Given the description of an element on the screen output the (x, y) to click on. 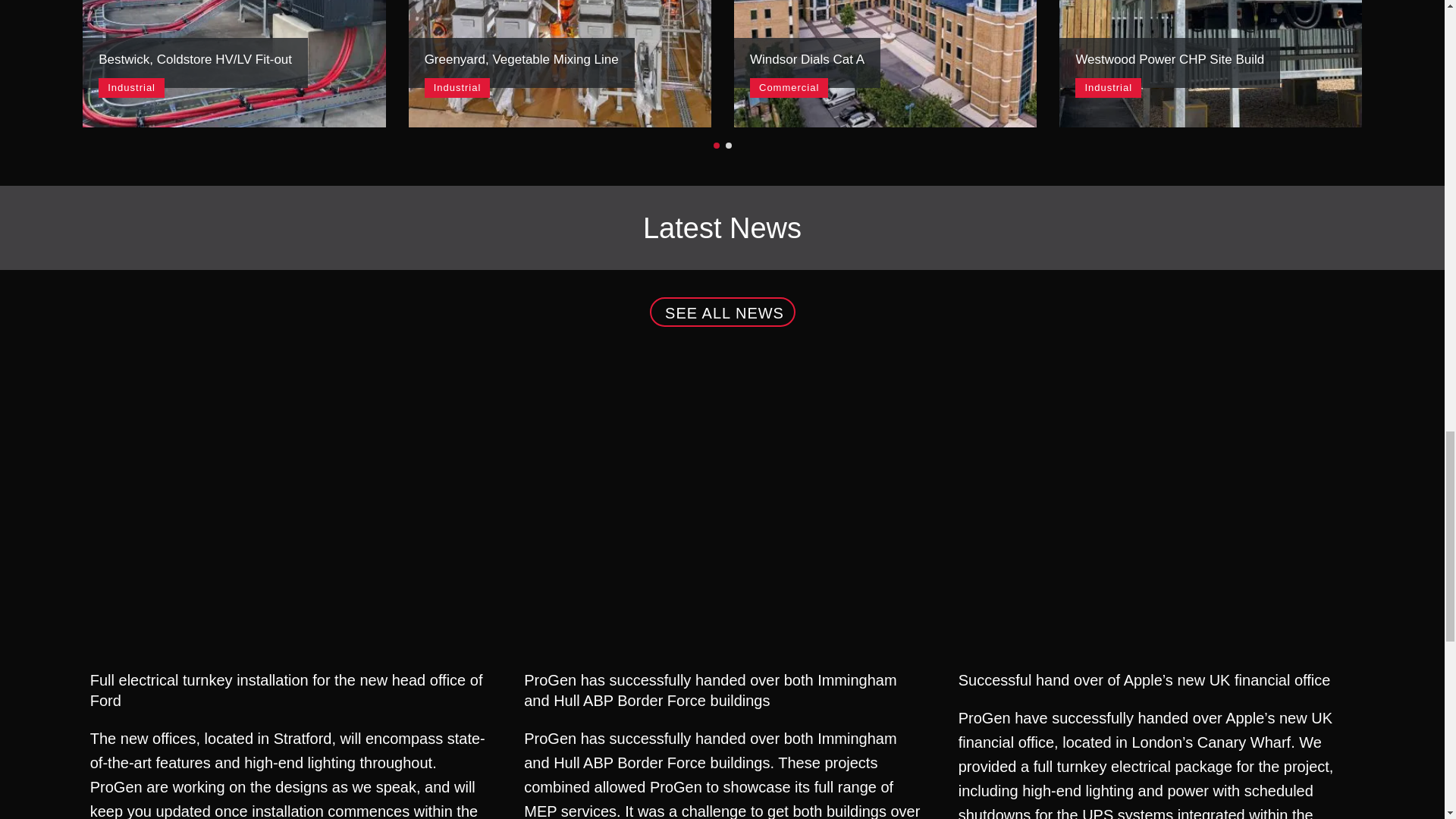
SEE ALL NEWS (884, 63)
